Given the description of an element on the screen output the (x, y) to click on. 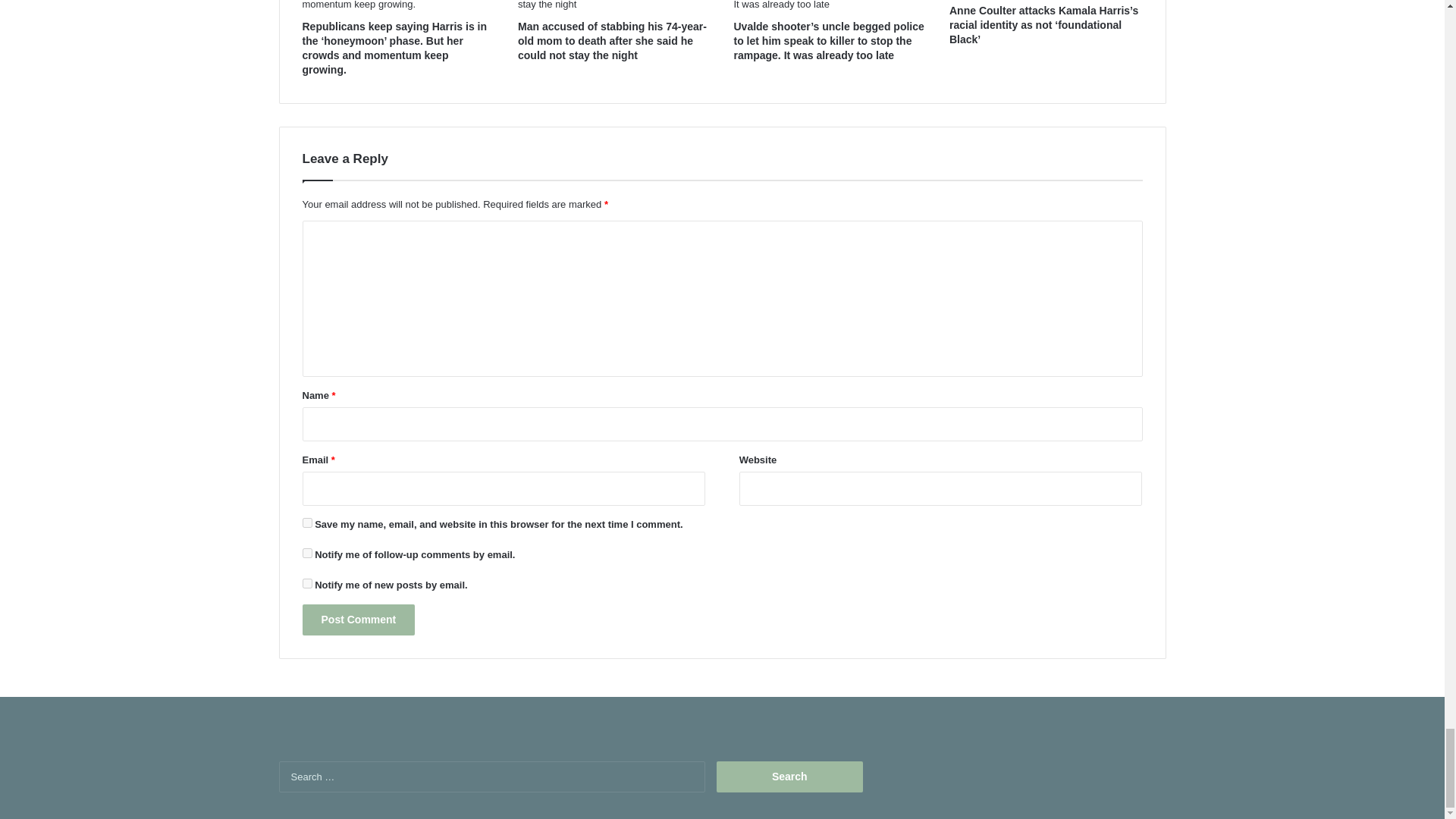
subscribe (306, 583)
yes (306, 522)
Search (789, 776)
Search (789, 776)
subscribe (306, 552)
Post Comment (357, 619)
